Given the description of an element on the screen output the (x, y) to click on. 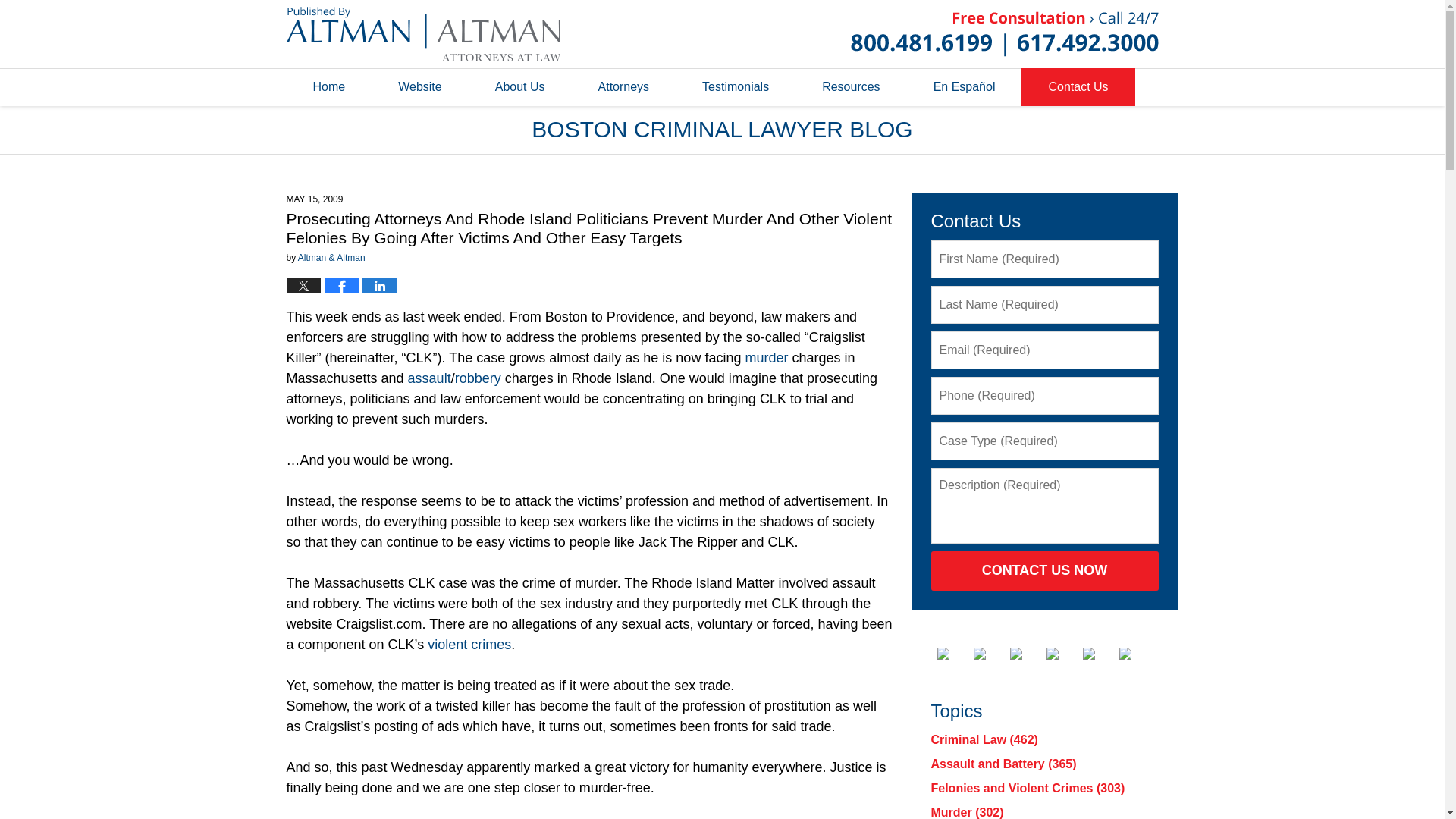
Justia (1062, 653)
Attorneys (624, 86)
Feed (1135, 653)
robbery (477, 378)
Testimonials (734, 86)
Home (329, 86)
Contact Us (1078, 86)
Please enter a valid phone number. (1044, 395)
Website (419, 86)
Twitter (990, 653)
